Given the description of an element on the screen output the (x, y) to click on. 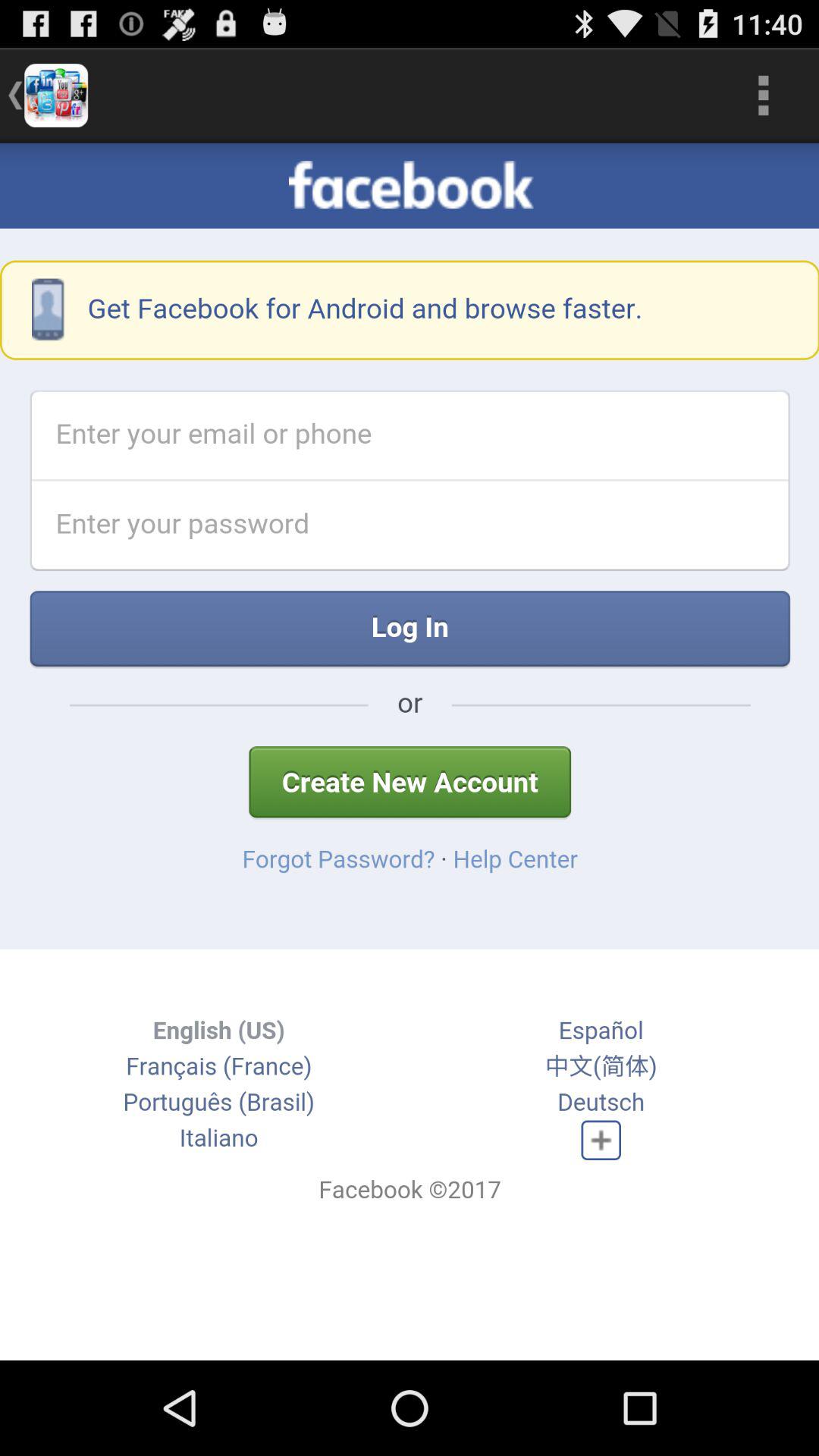
log in page (409, 751)
